Given the description of an element on the screen output the (x, y) to click on. 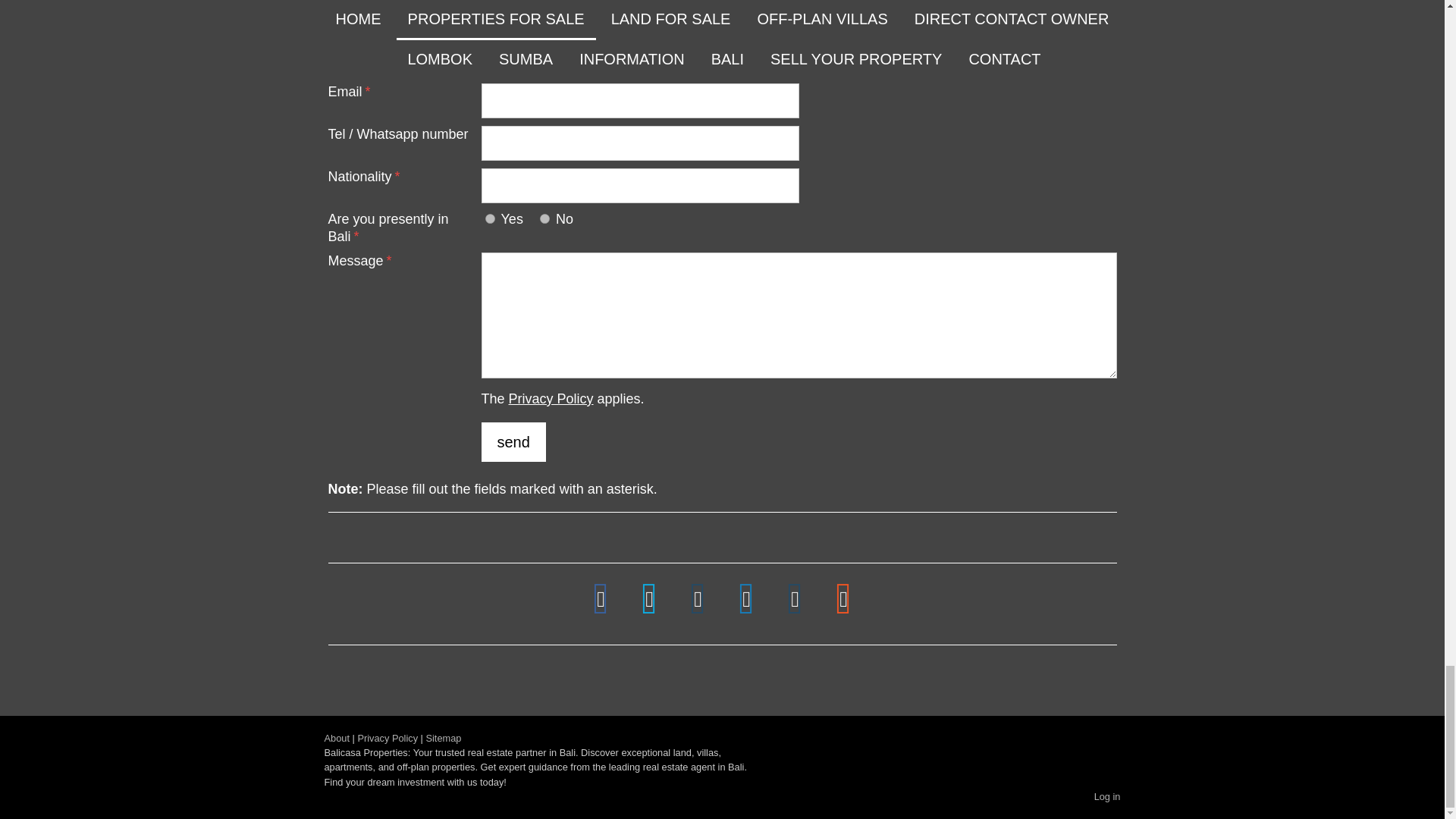
Tumblr (794, 598)
Reddit (844, 598)
Facebook (601, 598)
Twitter (649, 598)
Email (698, 598)
No (545, 218)
Yes (489, 218)
LinkedIn (746, 598)
send (512, 441)
